Given the description of an element on the screen output the (x, y) to click on. 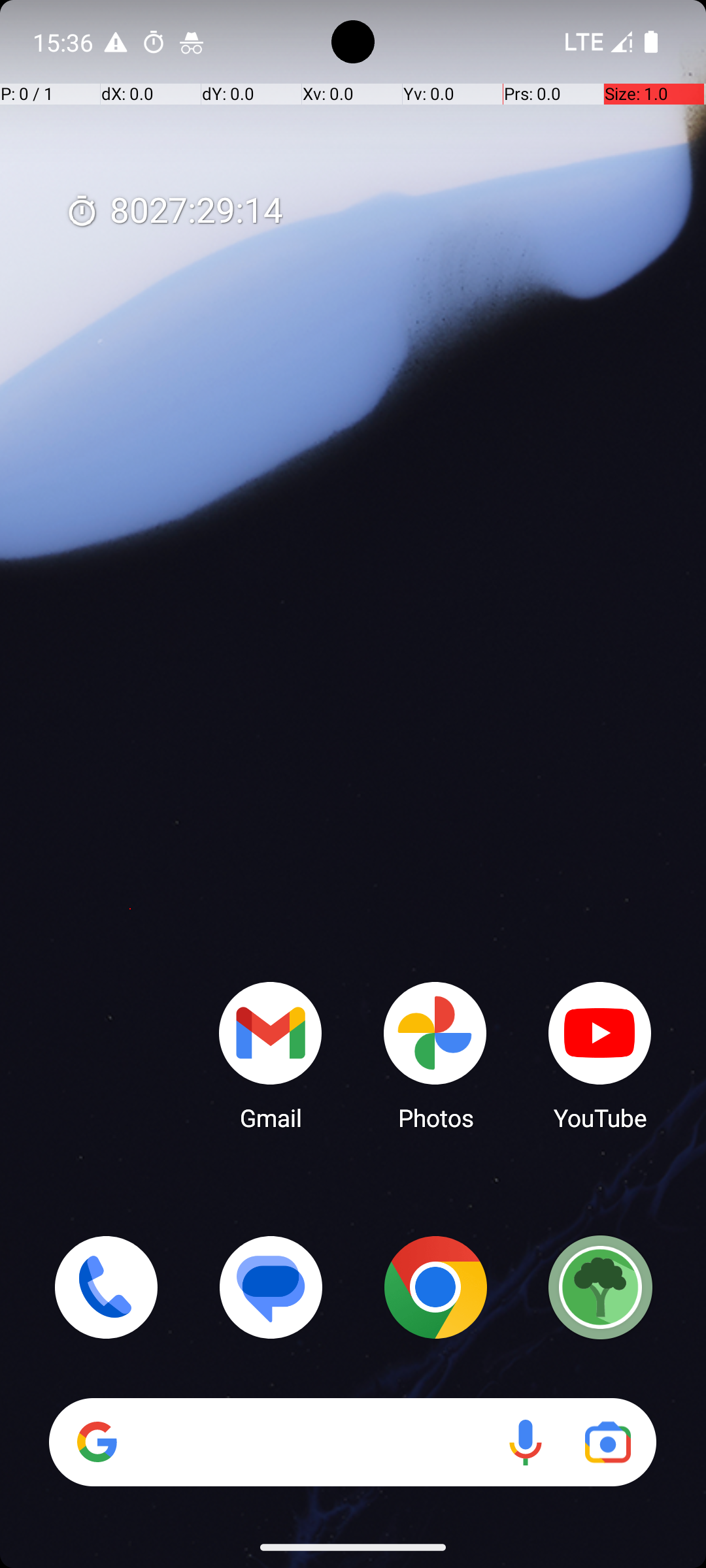
8027:29:14 Element type: android.widget.TextView (173, 210)
15:36 Element type: android.widget.TextView (64, 41)
